Given the description of an element on the screen output the (x, y) to click on. 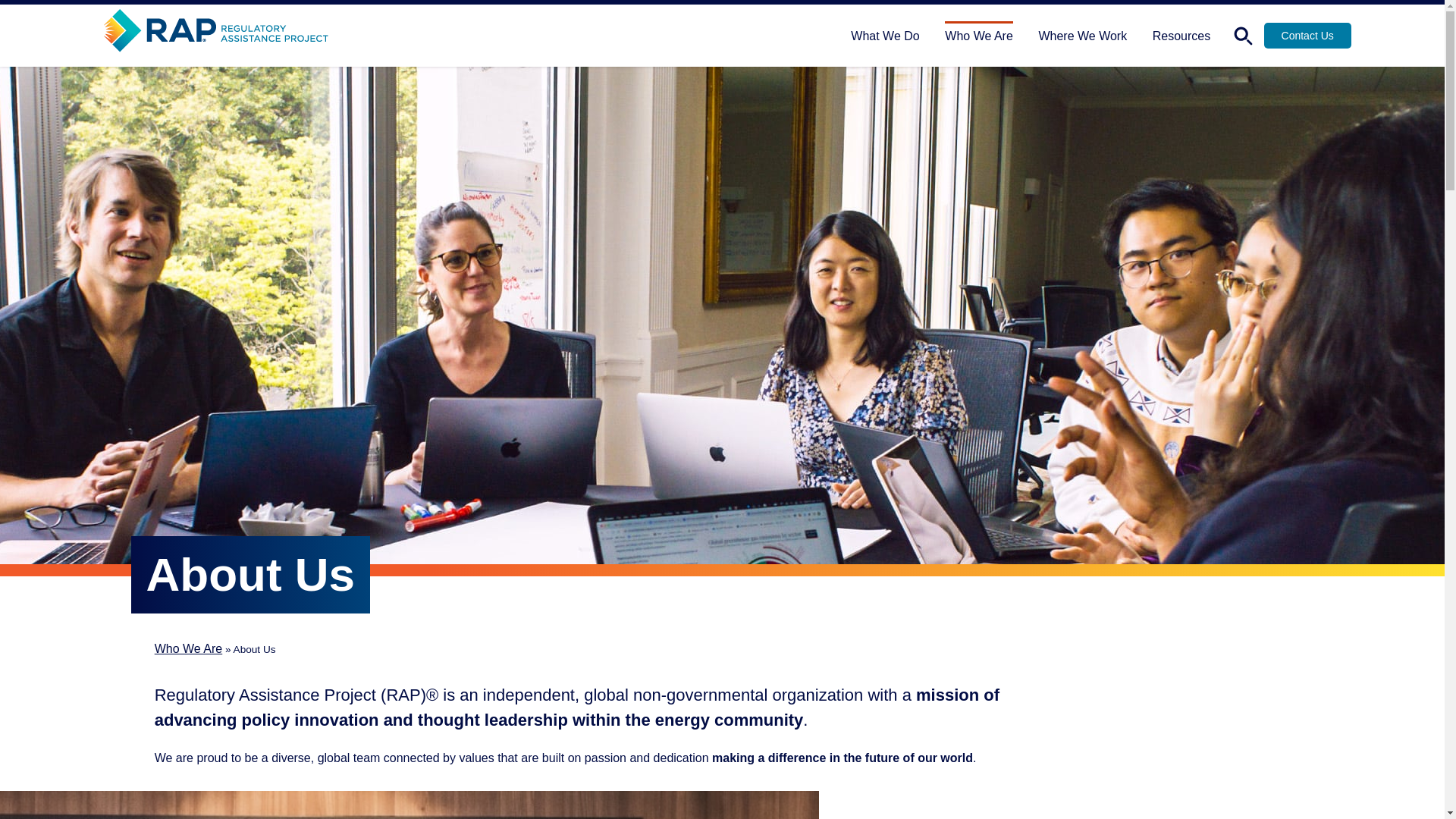
What We Do (884, 33)
Who We Are (978, 33)
Resources (1181, 33)
Where We Work (1082, 33)
